Given the description of an element on the screen output the (x, y) to click on. 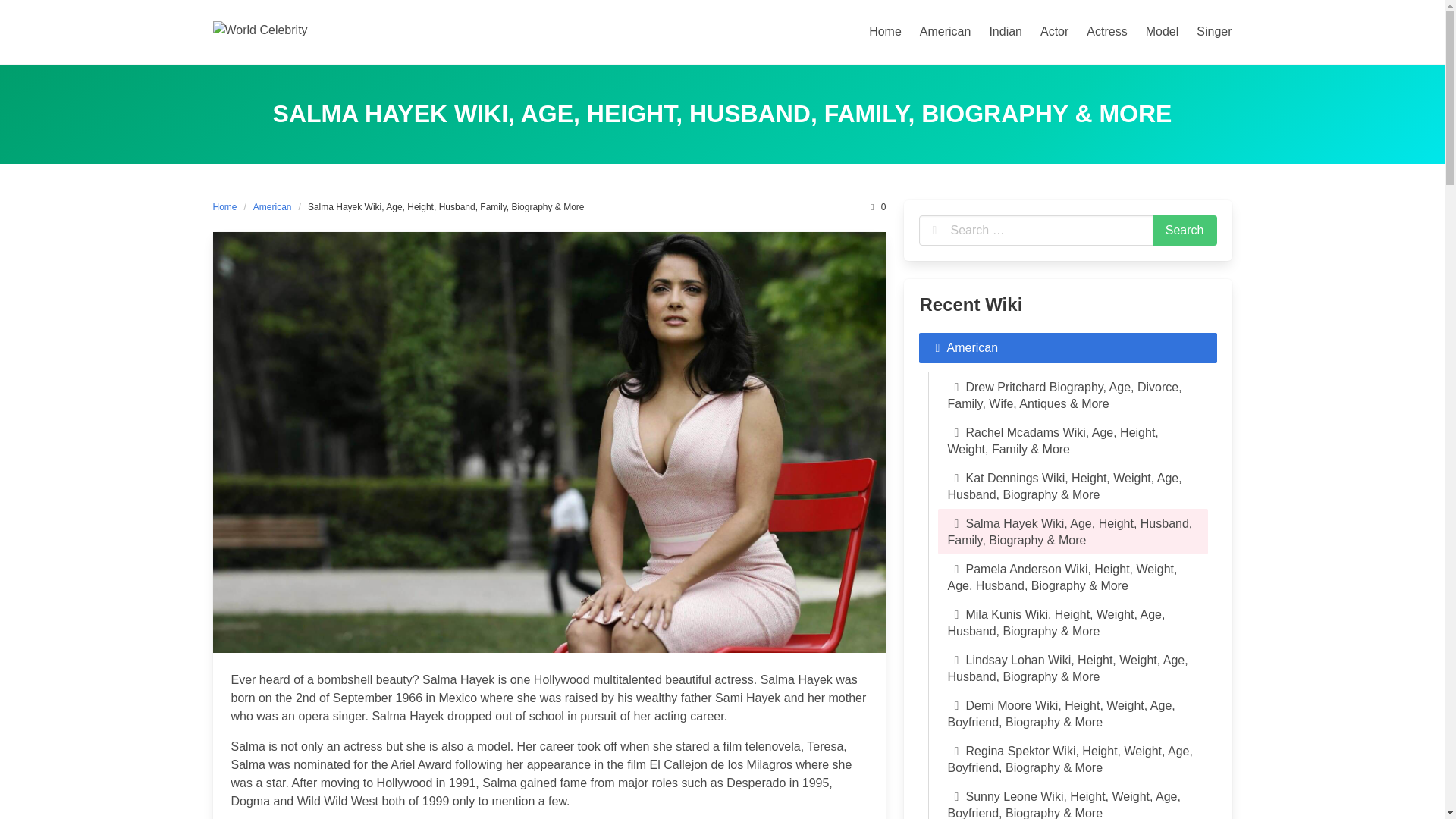
Indian (1004, 31)
Model (1162, 31)
Singer (1214, 31)
Search (1185, 230)
American (945, 31)
Singer (1214, 31)
Search (1185, 230)
Actor (1053, 31)
Home (227, 206)
Actress (1106, 31)
